Given the description of an element on the screen output the (x, y) to click on. 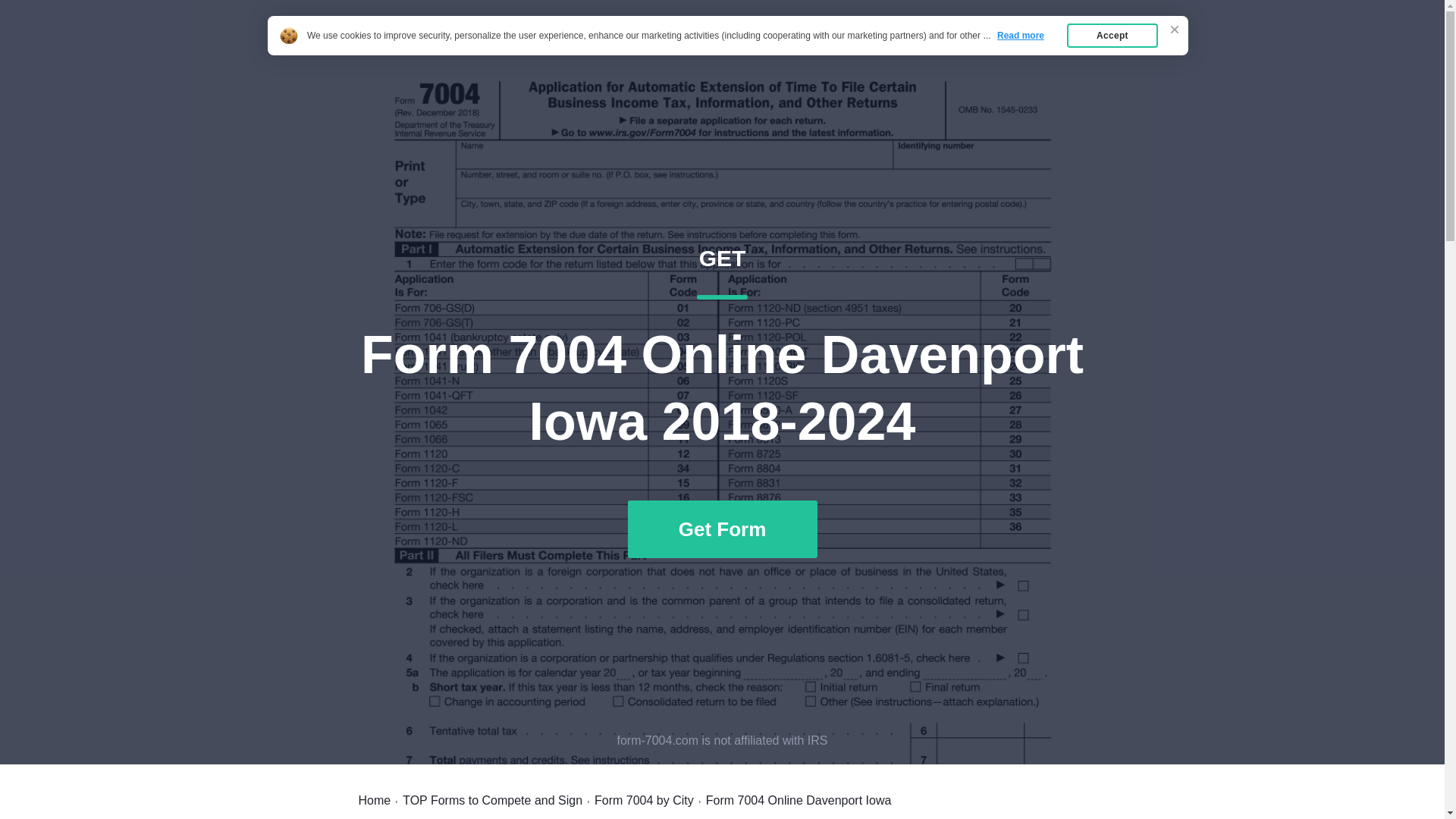
Home (374, 800)
Form 7004 by City (987, 47)
Top Forms (644, 800)
Form 7004 (1062, 47)
TOP Forms to Compete and Sign (397, 46)
